Given the description of an element on the screen output the (x, y) to click on. 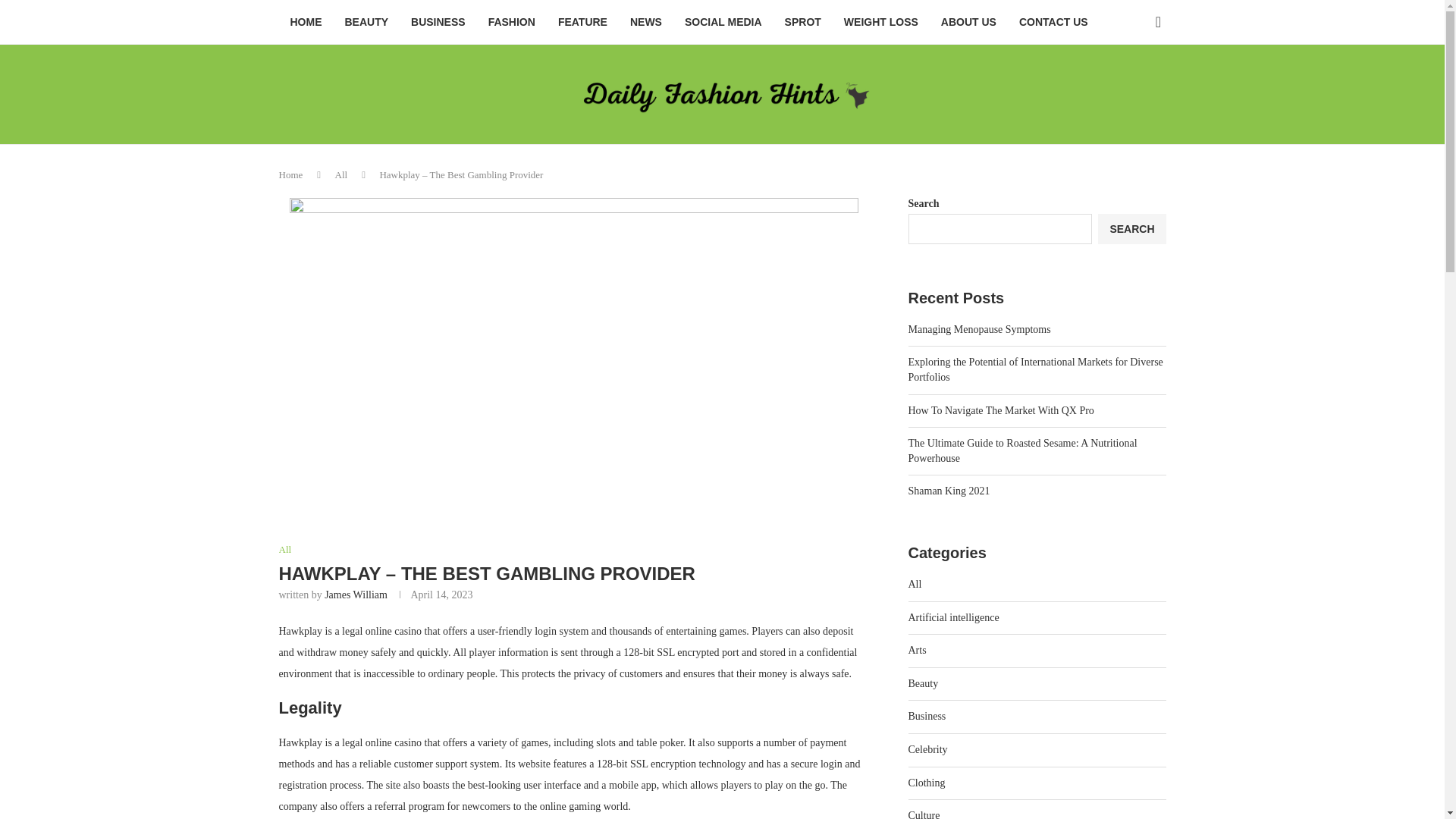
BUSINESS (437, 22)
WEIGHT LOSS (881, 22)
James William (355, 594)
CONTACT US (1053, 22)
HOME (306, 22)
SPROT (802, 22)
FEATURE (582, 22)
SOCIAL MEDIA (722, 22)
ABOUT US (968, 22)
Home (290, 174)
